Given the description of an element on the screen output the (x, y) to click on. 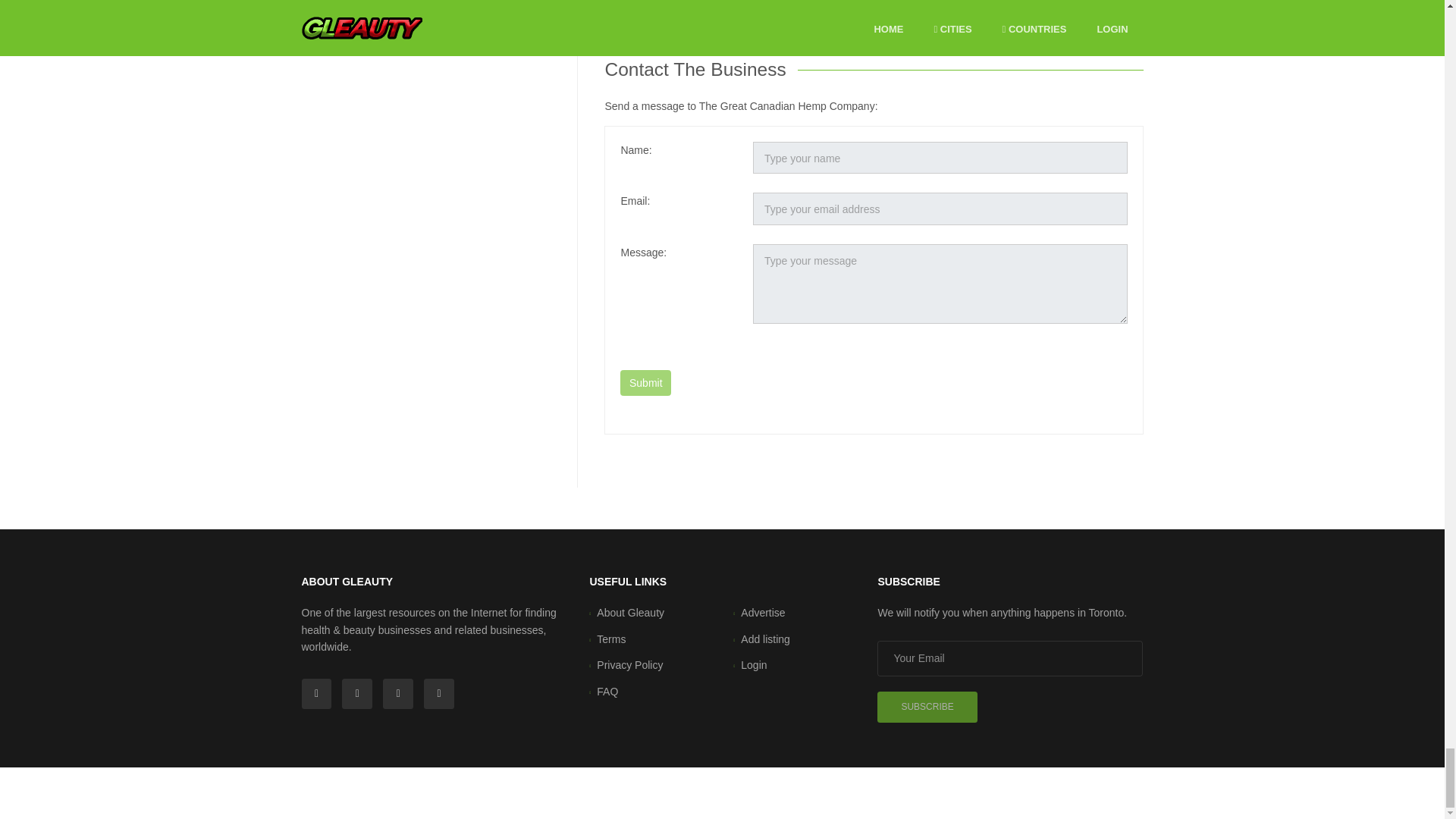
Submit (645, 382)
SUBSCRIBE (653, 13)
Submit (645, 382)
